Given the description of an element on the screen output the (x, y) to click on. 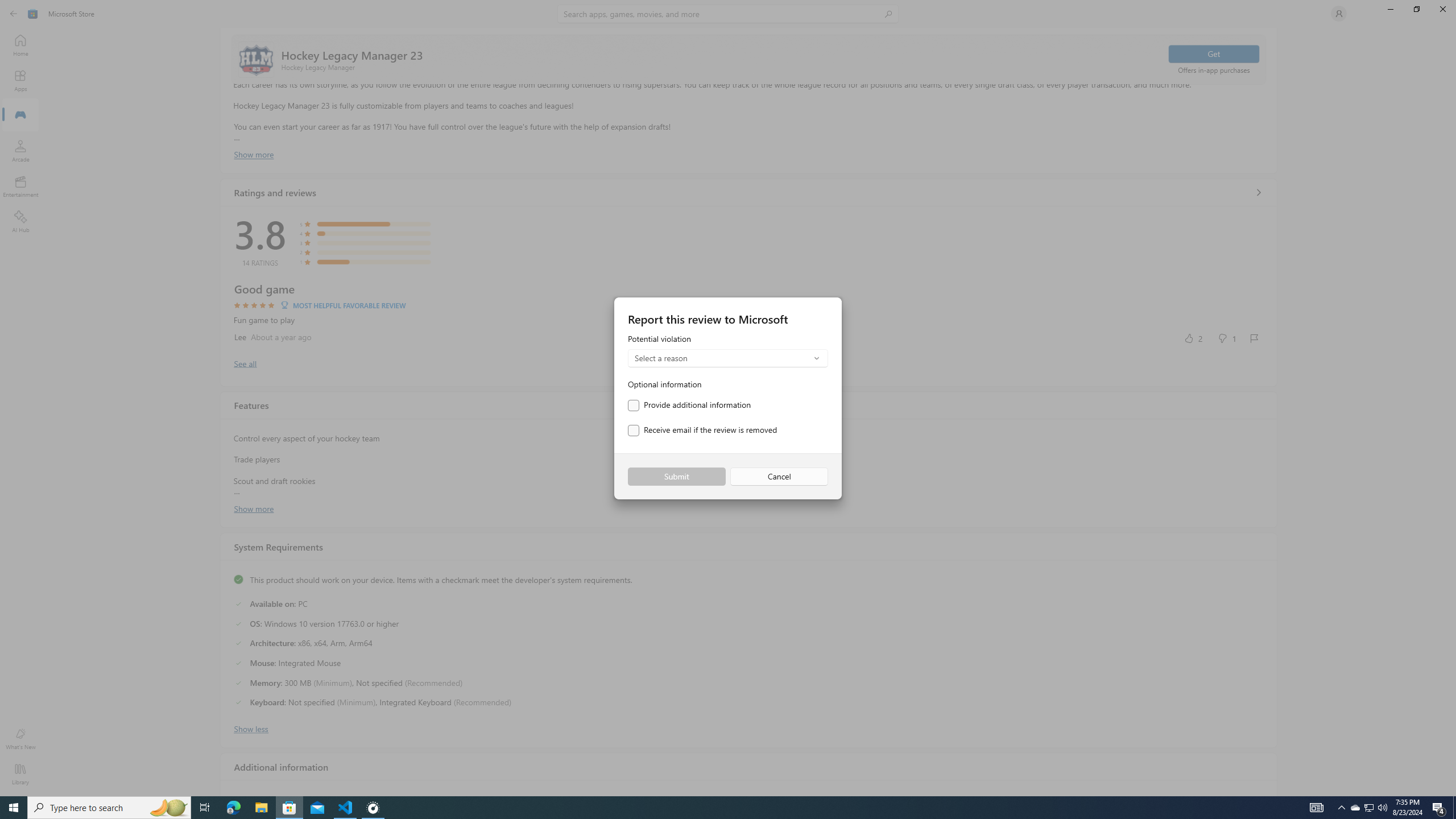
Show less (250, 728)
Potential violation (727, 351)
AutomationID: NavigationControl (728, 398)
Submit (676, 476)
No, this was not helpful. 1 votes. (1226, 338)
Search (727, 13)
Show more (253, 507)
